Given the description of an element on the screen output the (x, y) to click on. 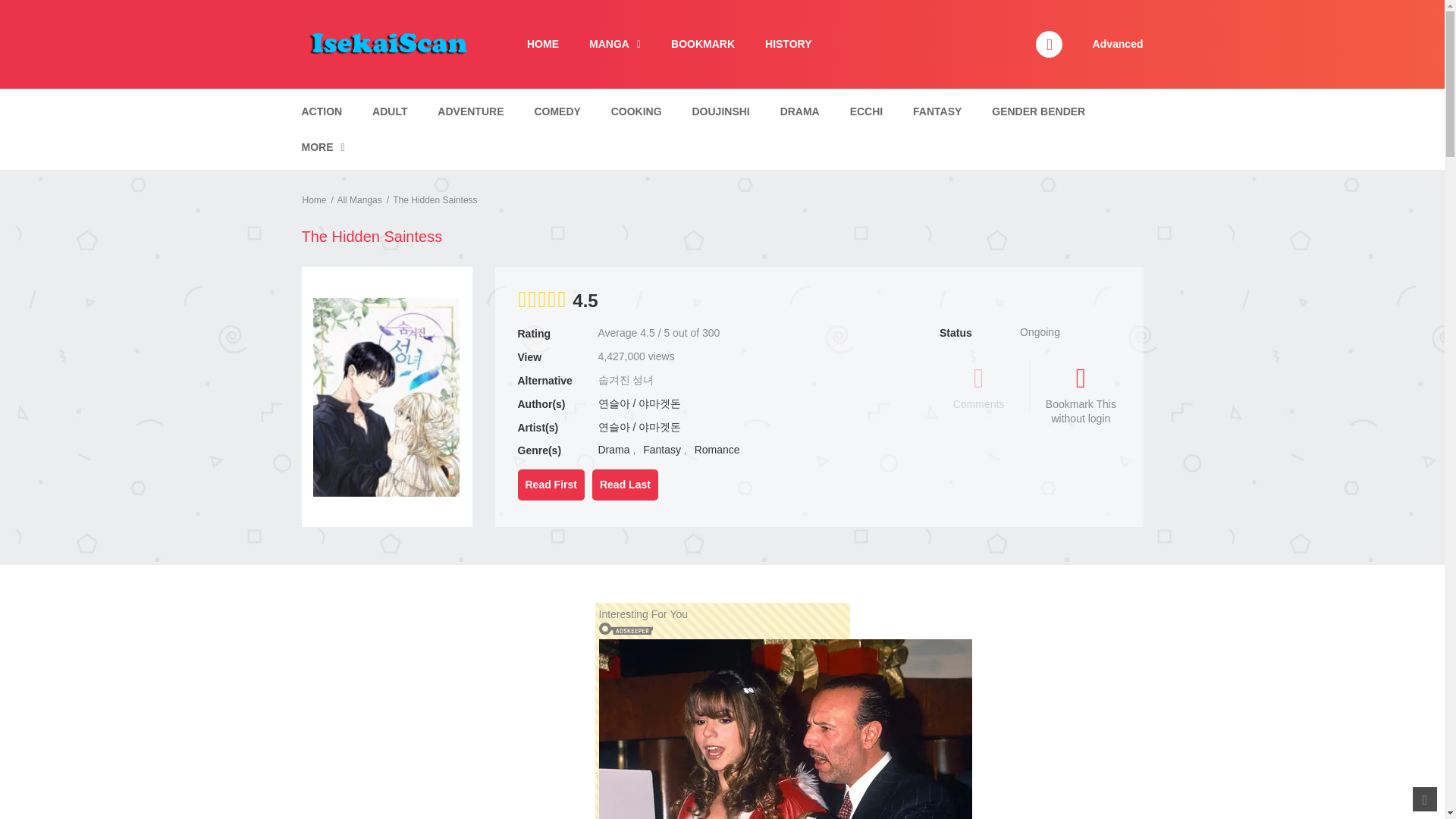
BOOKMARK MANGA (702, 44)
BOOKMARK (702, 44)
Ecchi (866, 111)
Gender bender (1037, 111)
MANGA (614, 44)
COMEDY (556, 111)
GENDER BENDER (1037, 111)
Adventure (470, 111)
DOUJINSHI (721, 111)
HOME (542, 44)
MORE (322, 147)
HISTORY (788, 44)
Cooking (636, 111)
Action (321, 111)
DRAMA (799, 111)
